Given the description of an element on the screen output the (x, y) to click on. 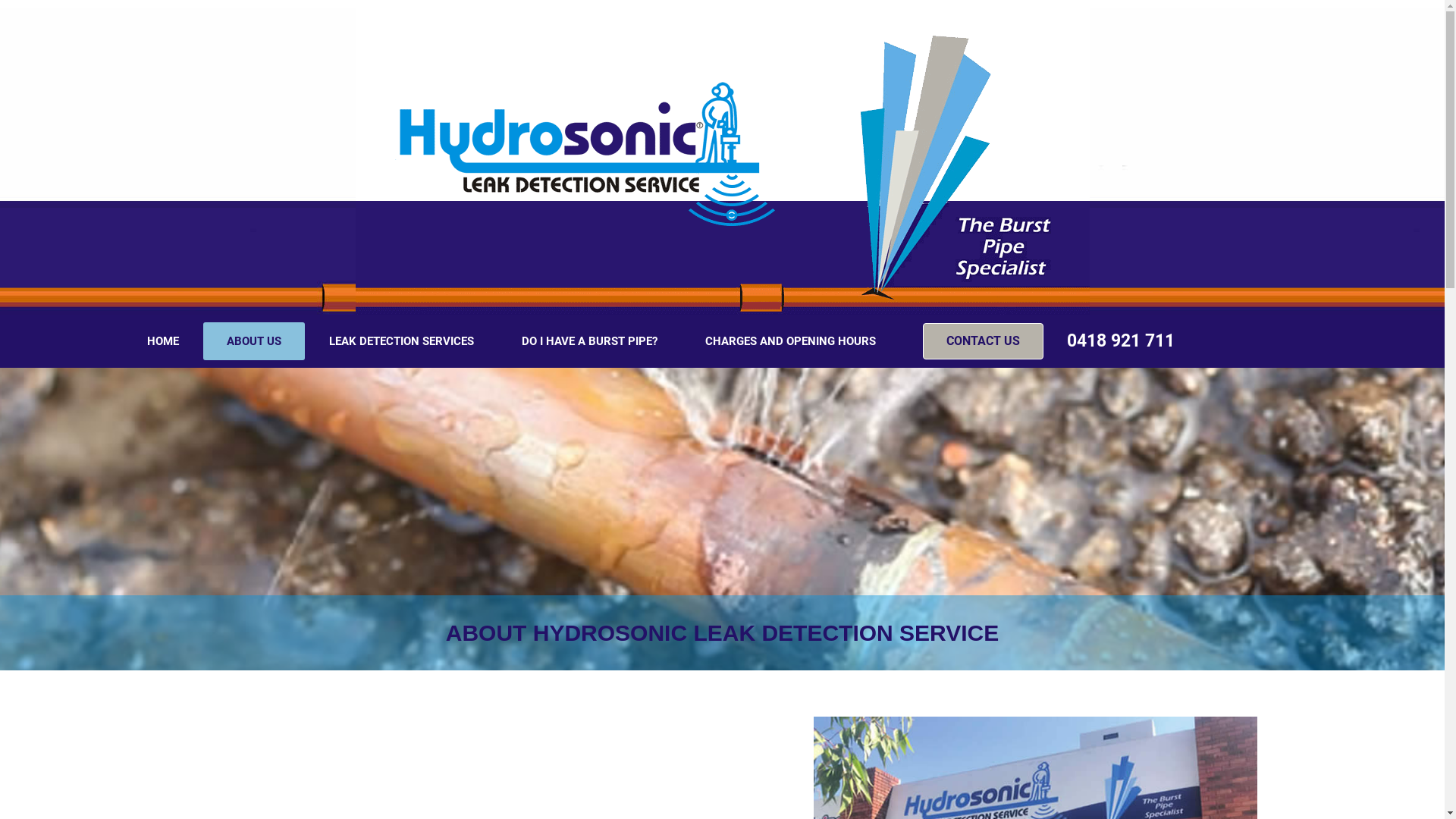
DO I HAVE A BURST PIPE? Element type: text (589, 341)
ABOUT US Element type: text (253, 341)
CONTACT US Element type: text (982, 341)
HOME Element type: text (162, 341)
CHARGES AND OPENING HOURS Element type: text (790, 341)
LEAK DETECTION SERVICES Element type: text (401, 341)
0418 921 711 Element type: text (1120, 340)
